Given the description of an element on the screen output the (x, y) to click on. 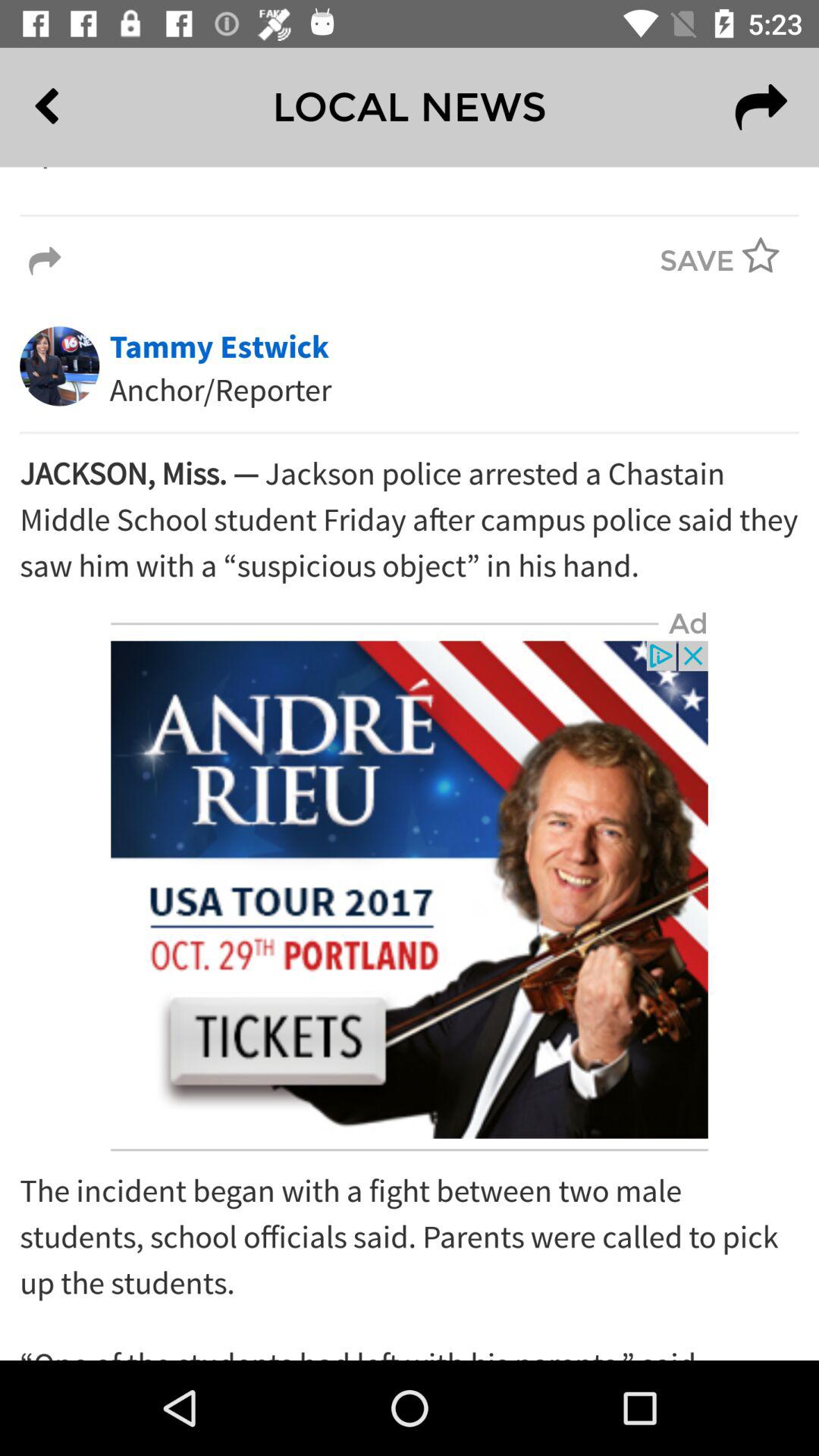
click on tammy estwick above anchorreporter (219, 347)
click on back button which is at top left corner (81, 107)
go to the image left to tammy estwick (59, 366)
click the forward icon below 523 (761, 107)
